Given the description of an element on the screen output the (x, y) to click on. 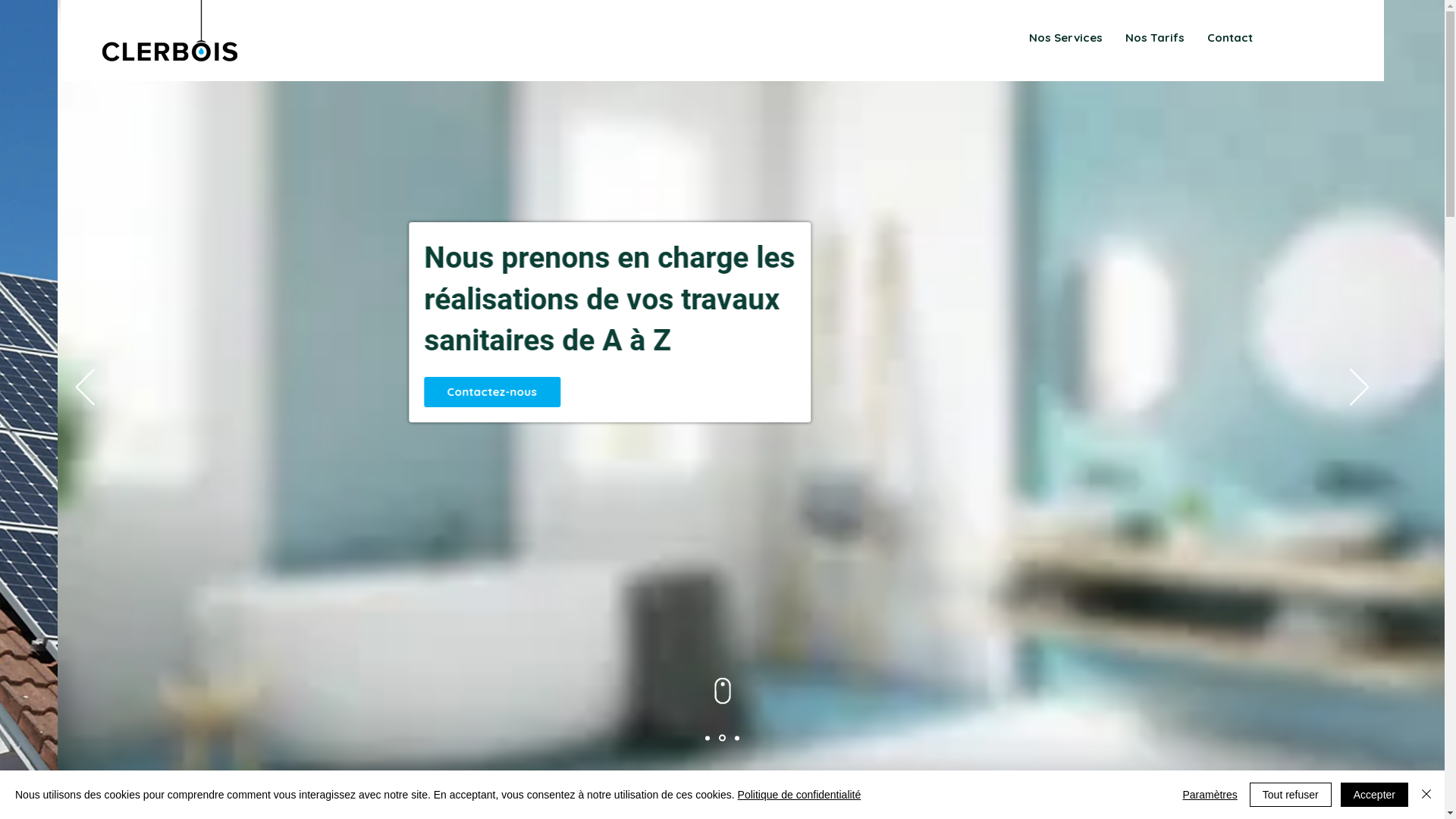
Clerbois Chauffage Element type: hover (169, 36)
Contactez-nous Element type: text (393, 432)
Scroll Element type: hover (721, 690)
Contact Element type: text (1229, 37)
Nos Tarifs Element type: text (1154, 37)
Tout refuser Element type: text (1290, 794)
Nos Services Element type: text (1065, 37)
Accepter Element type: text (1374, 794)
